Given the description of an element on the screen output the (x, y) to click on. 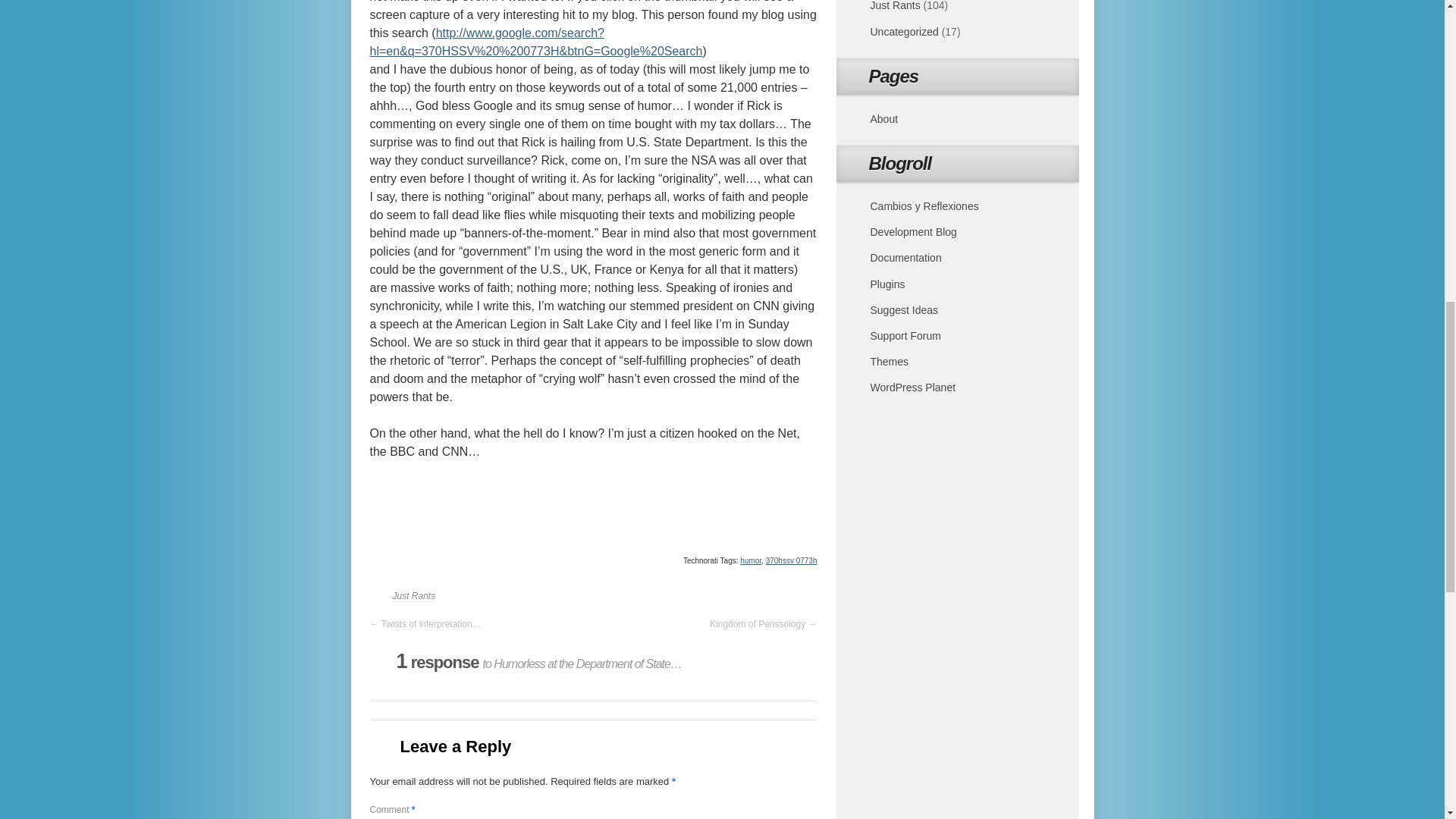
Cambios y Reflexiones (924, 205)
humor (750, 560)
About (884, 119)
Development Blog (913, 232)
Follow replies (380, 671)
Just Rants (895, 5)
Uncategorized (904, 31)
Plugins (887, 283)
Just Rants (414, 595)
370hssv 0773h (790, 560)
